Given the description of an element on the screen output the (x, y) to click on. 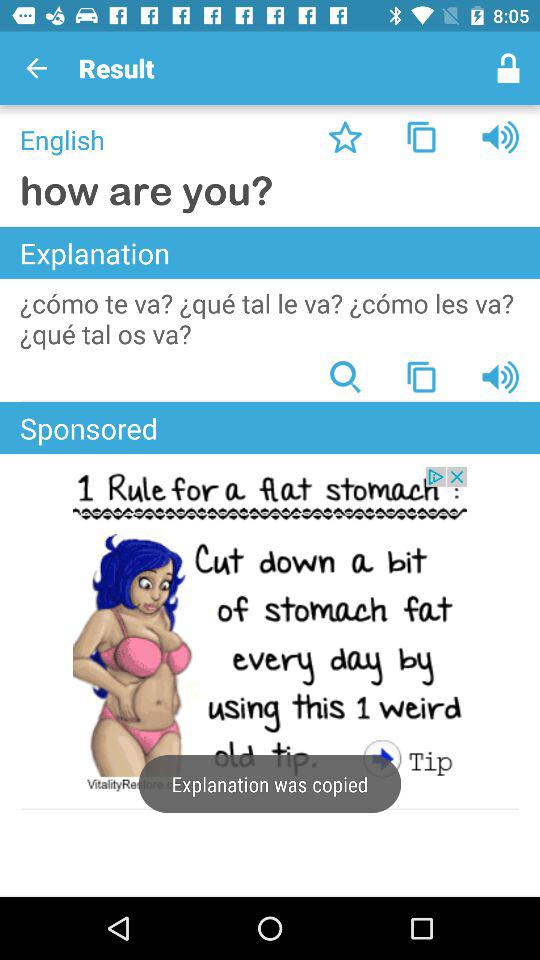
press the item below the sponsored (269, 631)
